Given the description of an element on the screen output the (x, y) to click on. 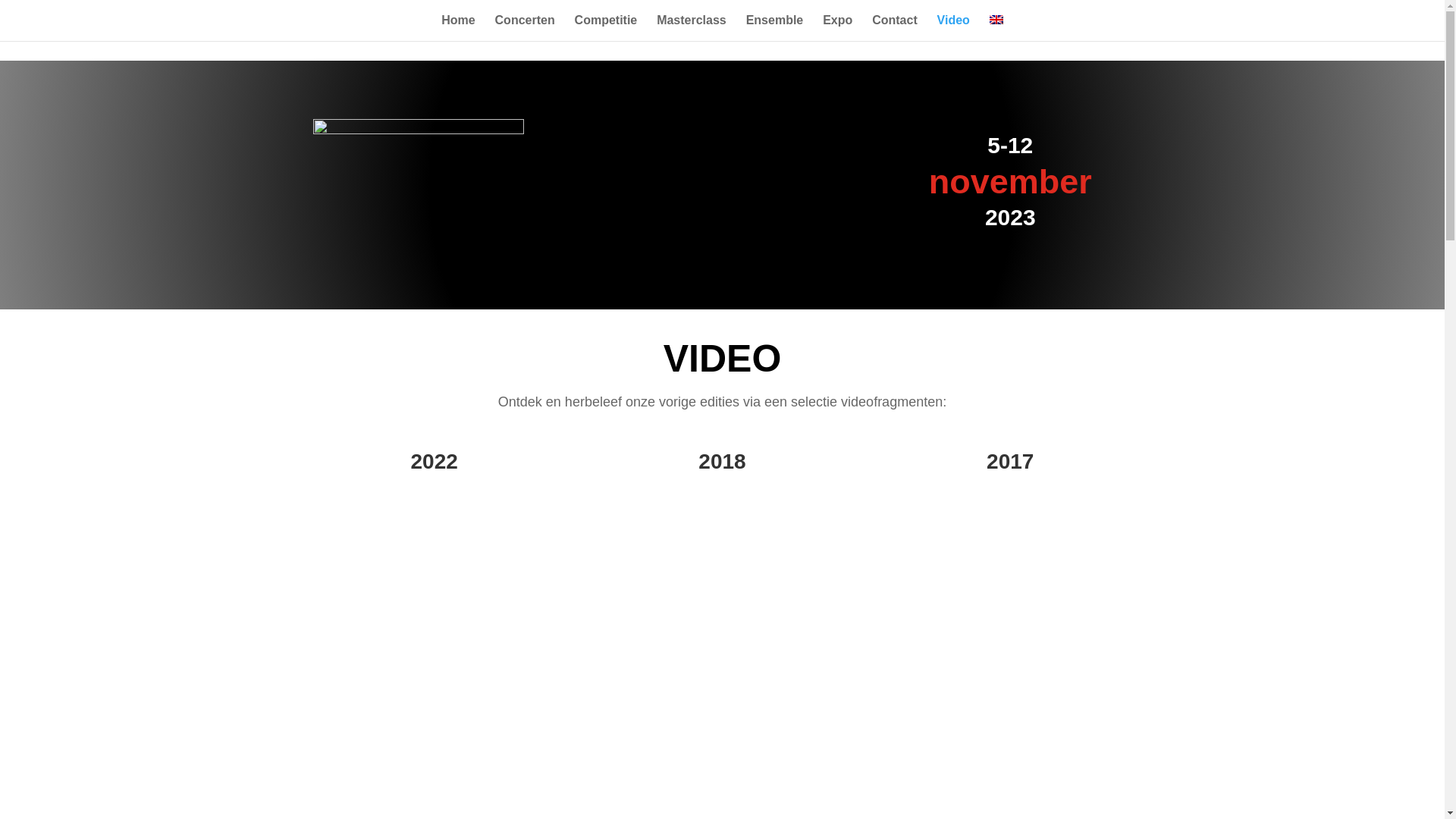
Competitie Element type: text (605, 27)
Contact Element type: text (894, 27)
Home Element type: text (457, 27)
Ensemble Element type: text (774, 27)
Concerten Element type: text (525, 27)
Expo Element type: text (837, 27)
logo_agf_rvb_alpha_fdfonce Element type: hover (417, 185)
Masterclass Element type: text (691, 27)
Video Element type: text (953, 27)
